Given the description of an element on the screen output the (x, y) to click on. 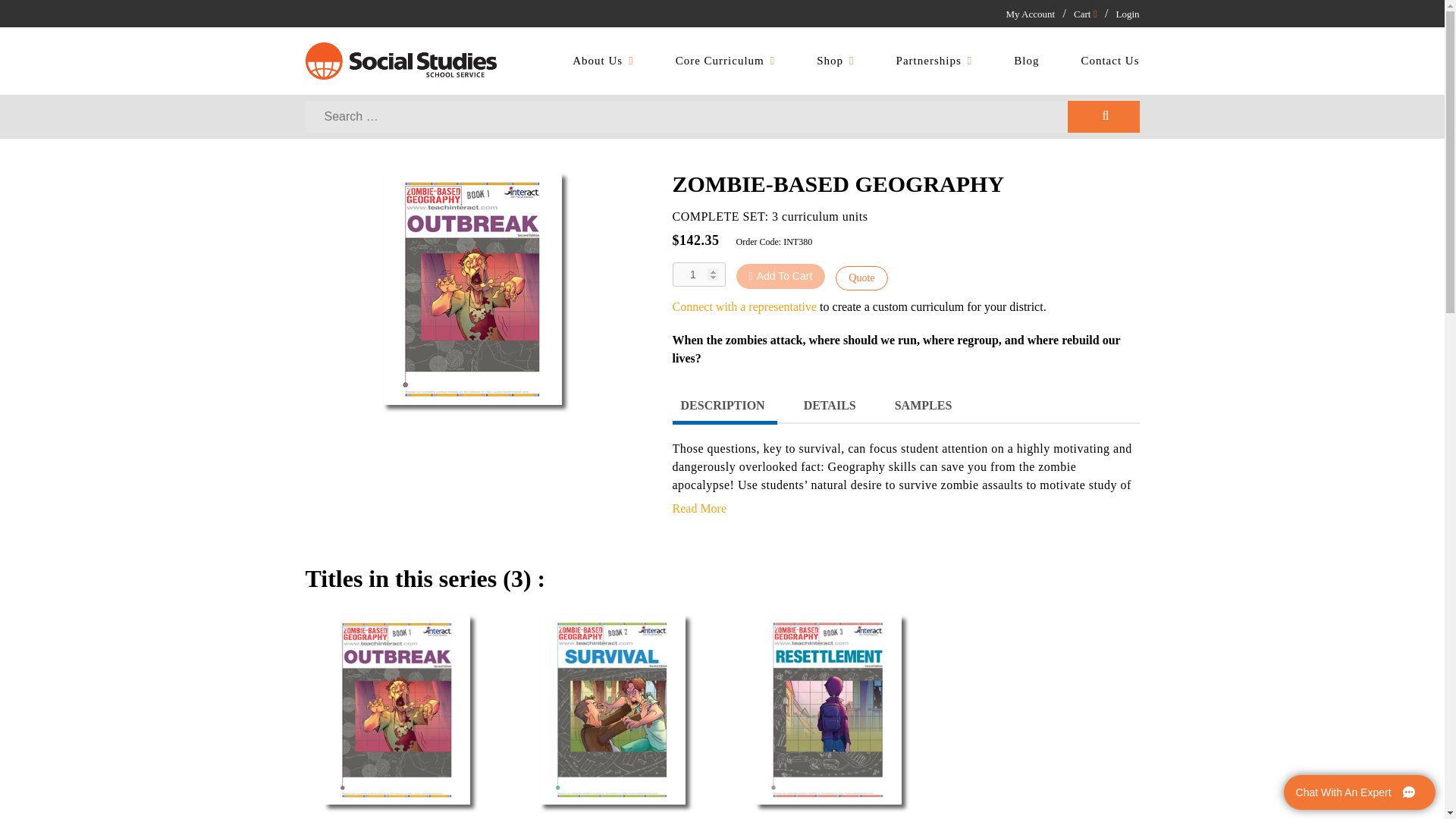
My Account (1030, 13)
Shop (835, 60)
Core Curriculum (724, 60)
About Us (602, 60)
1 (698, 274)
Search (1103, 116)
Cart (1085, 13)
Qty (698, 274)
Search (1103, 116)
Login (1126, 13)
